Given the description of an element on the screen output the (x, y) to click on. 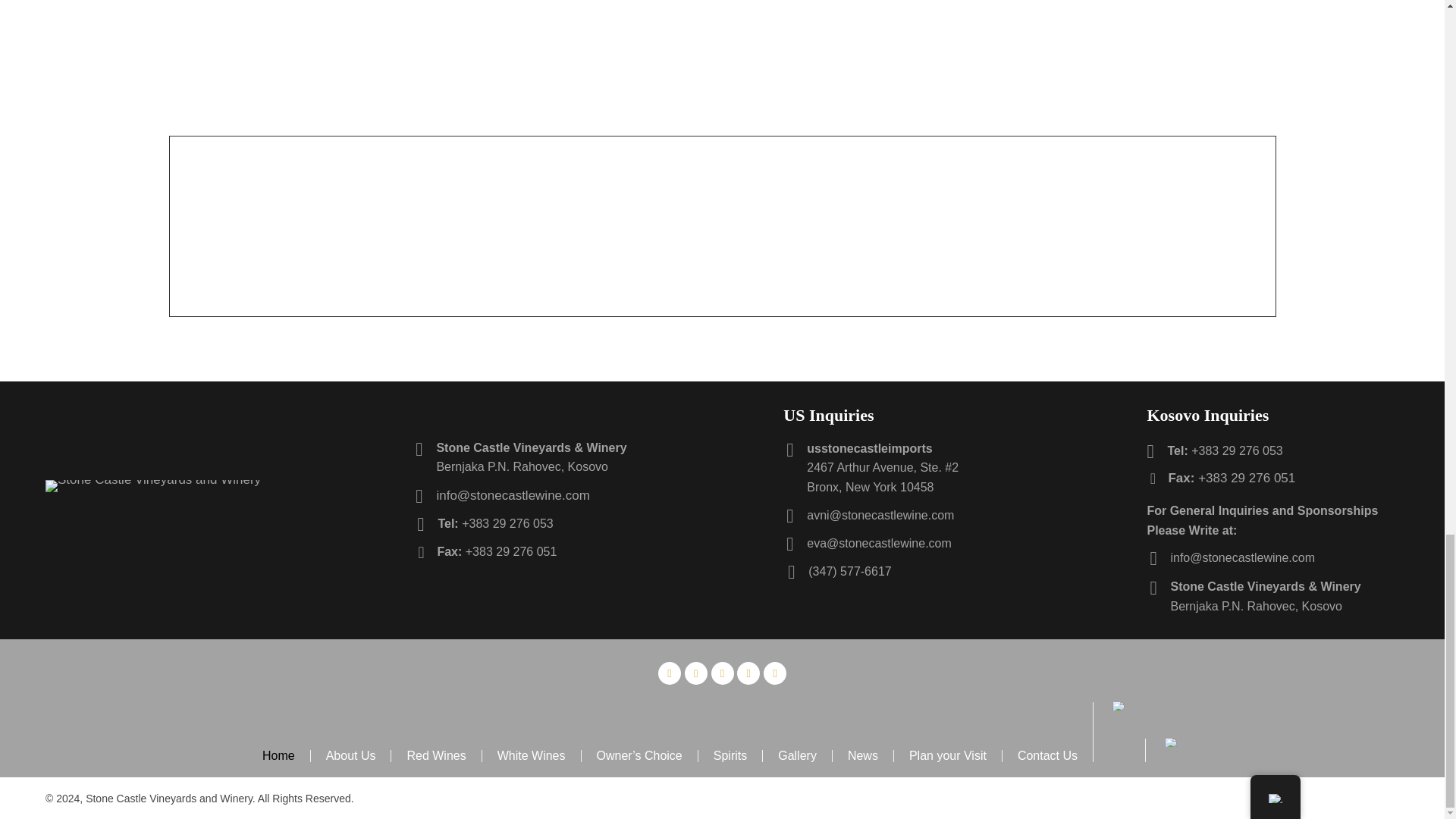
Youtube (774, 672)
Instagram (695, 672)
Facebook (669, 672)
Twitter (722, 672)
Bernjaka P.N. Rahovec, Kosovo (521, 466)
Linkedin (748, 672)
Albanian (1170, 741)
English (1118, 705)
